Given the description of an element on the screen output the (x, y) to click on. 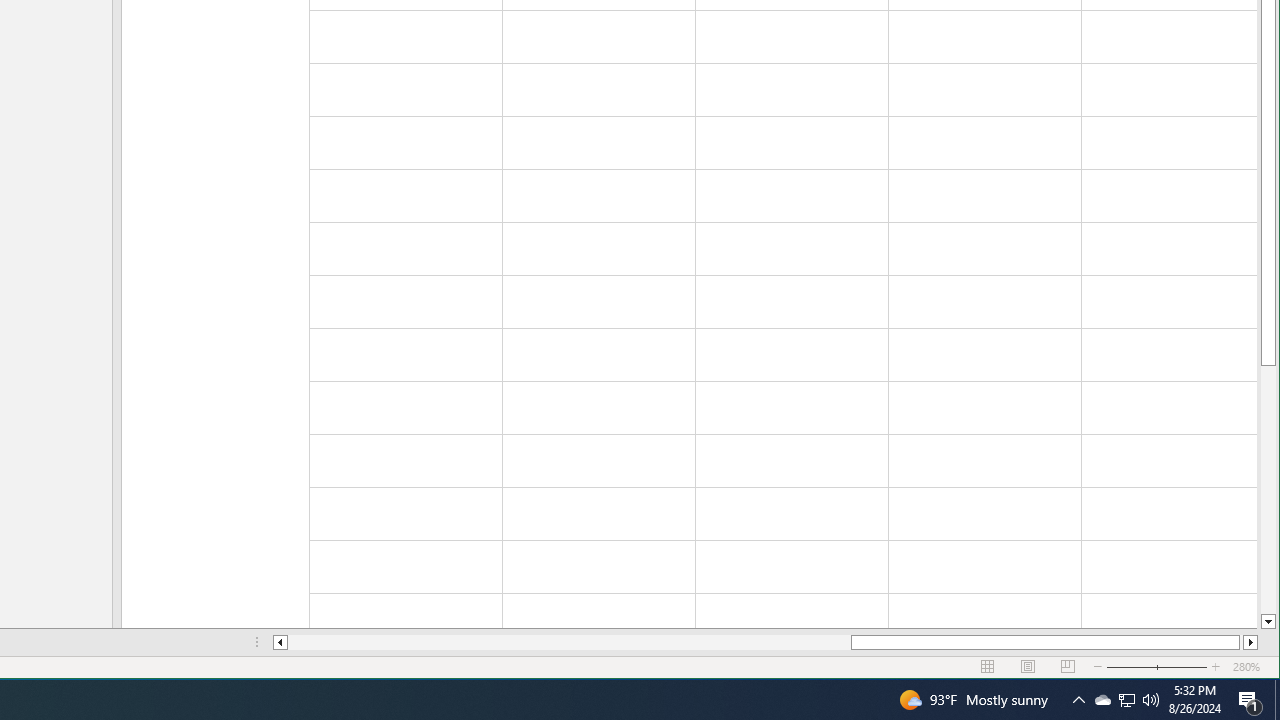
Q2790: 100% (1151, 699)
Page left (1126, 699)
Notification Chevron (1102, 699)
Show desktop (569, 642)
